Given the description of an element on the screen output the (x, y) to click on. 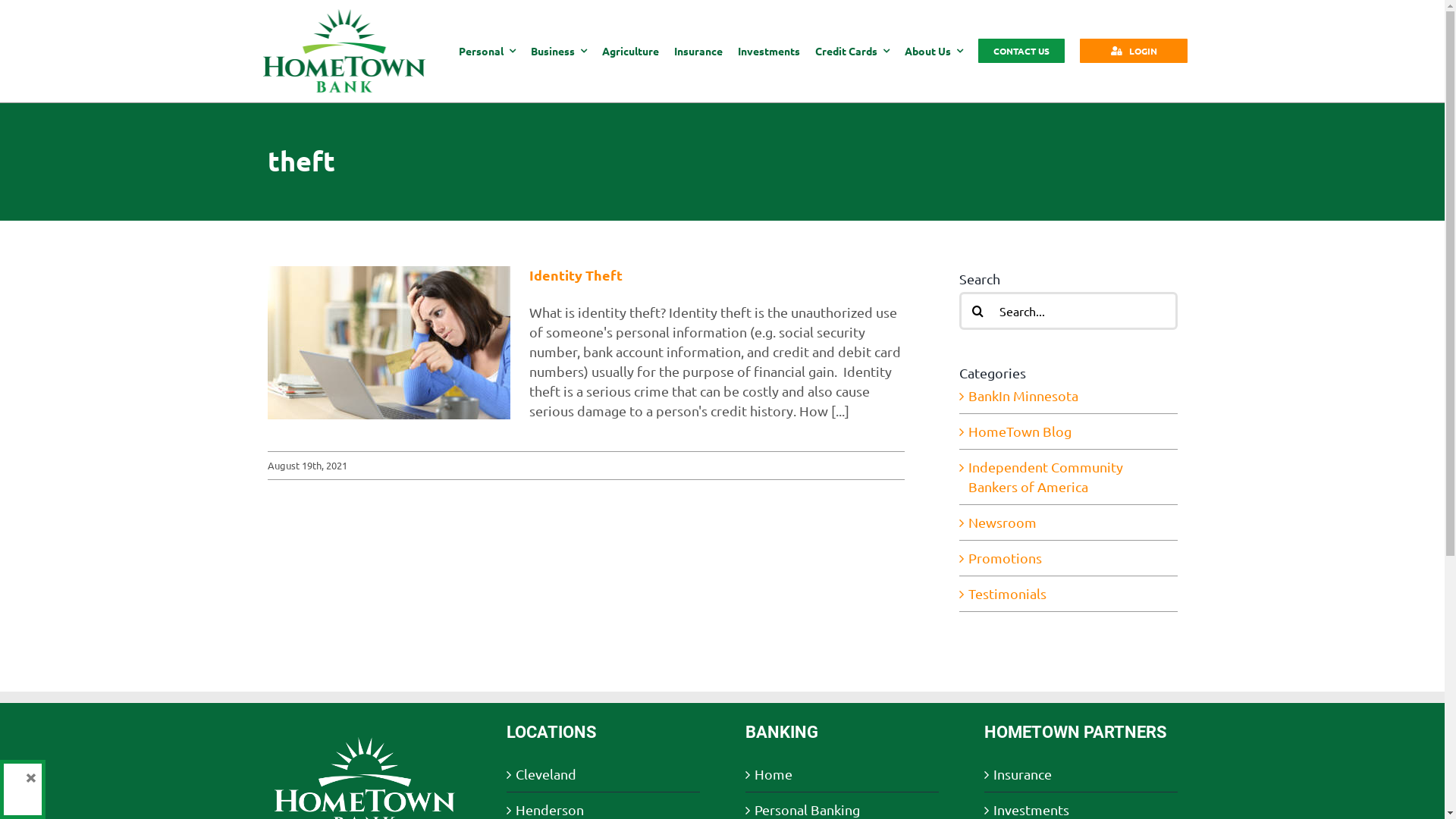
BankIn Minnesota Element type: text (1068, 395)
Independent Community Bankers of America Element type: text (1068, 476)
Investments Element type: text (768, 50)
Agriculture Element type: text (630, 50)
Credit Cards Element type: text (852, 50)
Newsroom Element type: text (1068, 522)
Promotions Element type: text (1068, 557)
LOGIN Element type: text (1133, 50)
CONTACT US Element type: text (1021, 50)
Cleveland Element type: text (603, 774)
Personal Element type: text (486, 50)
Testimonials Element type: text (1068, 593)
HomeTown Blog Element type: text (1068, 431)
Insurance Element type: text (1081, 774)
About Us Element type: text (933, 50)
Business Element type: text (558, 50)
Identity Theft Element type: text (575, 274)
Home Element type: text (841, 774)
Insurance Element type: text (698, 50)
